Given the description of an element on the screen output the (x, y) to click on. 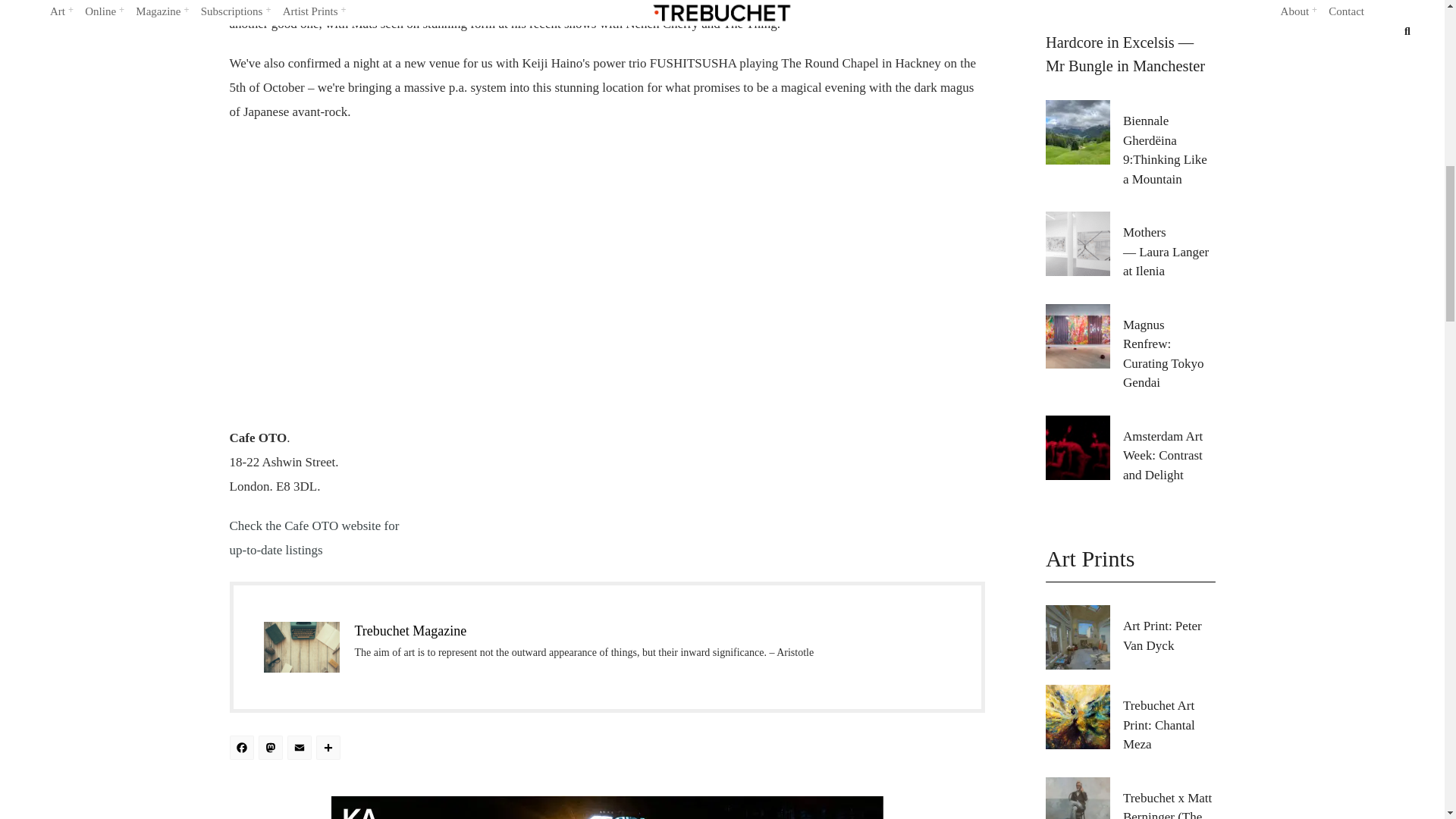
Facebook (242, 749)
Mastodon (271, 749)
Email (300, 749)
